Given the description of an element on the screen output the (x, y) to click on. 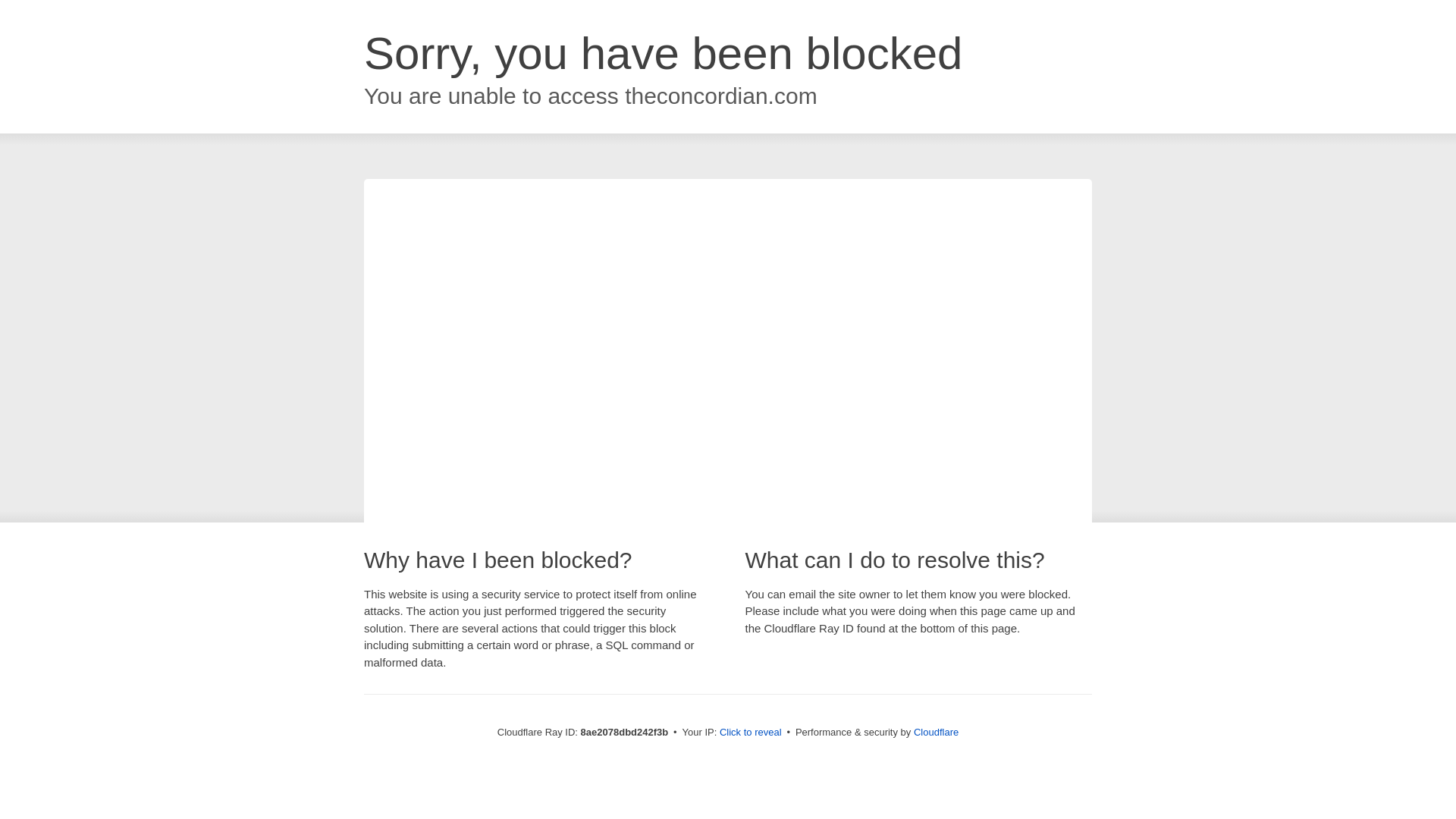
Click to reveal (750, 732)
Cloudflare (936, 731)
